Given the description of an element on the screen output the (x, y) to click on. 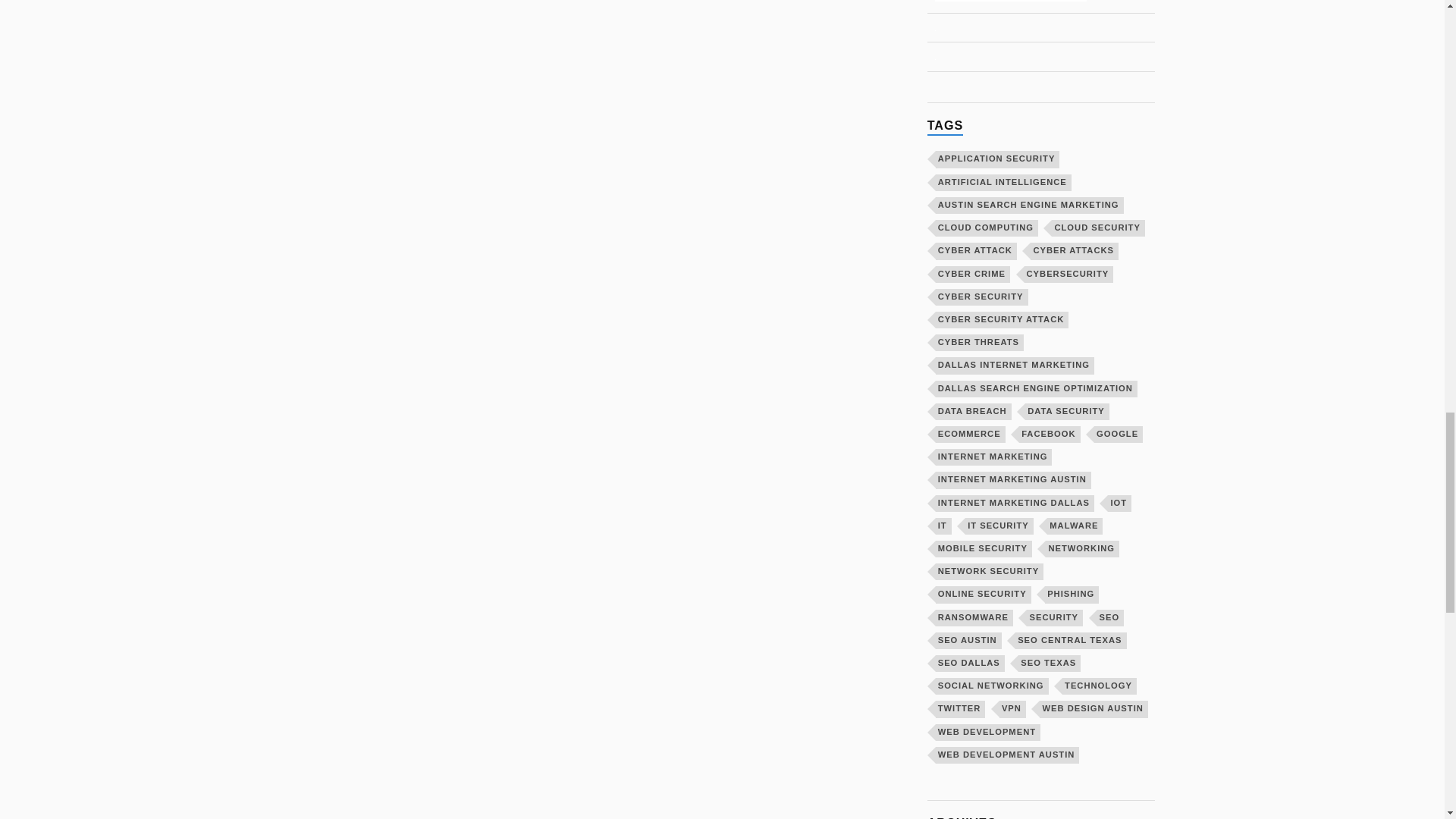
APPLICATION SECURITY (997, 158)
CYBER CRIME (973, 273)
CYBER SECURITY (981, 297)
CYBER ATTACK (976, 250)
CLOUD SECURITY (1097, 228)
CYBERSECURITY (1069, 273)
CLOUD COMPUTING (987, 228)
AUSTIN SEARCH ENGINE MARKETING (1030, 205)
CYBER ATTACKS (1074, 250)
ARTIFICIAL INTELLIGENCE (1003, 182)
